Given the description of an element on the screen output the (x, y) to click on. 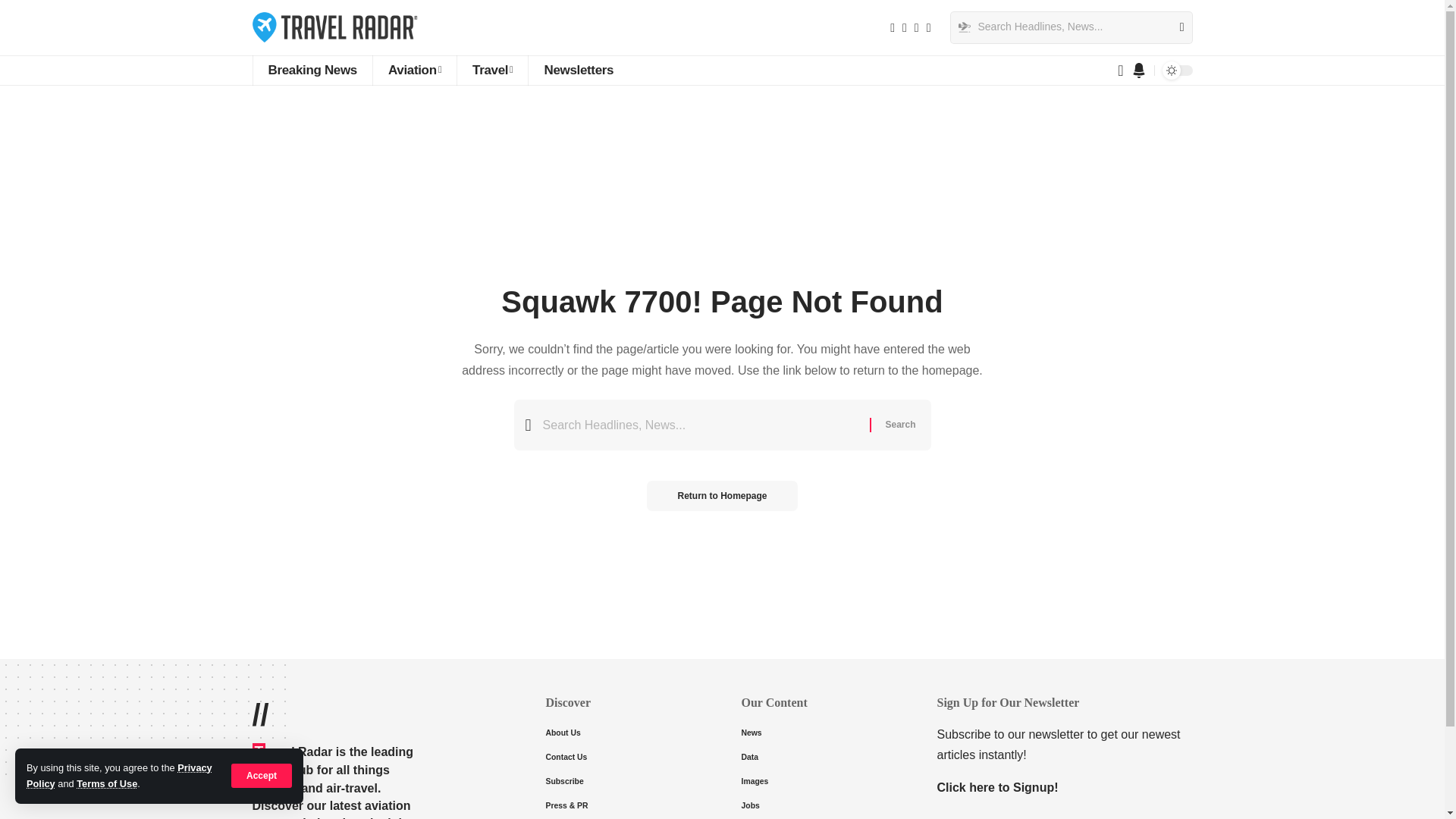
Privacy Policy (119, 775)
Search (899, 424)
Aviation (414, 70)
Accept (261, 775)
Travel (492, 70)
Breaking News (311, 70)
Newsletters (577, 70)
Travel Radar - Aviation News (334, 27)
Search (1175, 27)
Terms of Use (106, 783)
